Given the description of an element on the screen output the (x, y) to click on. 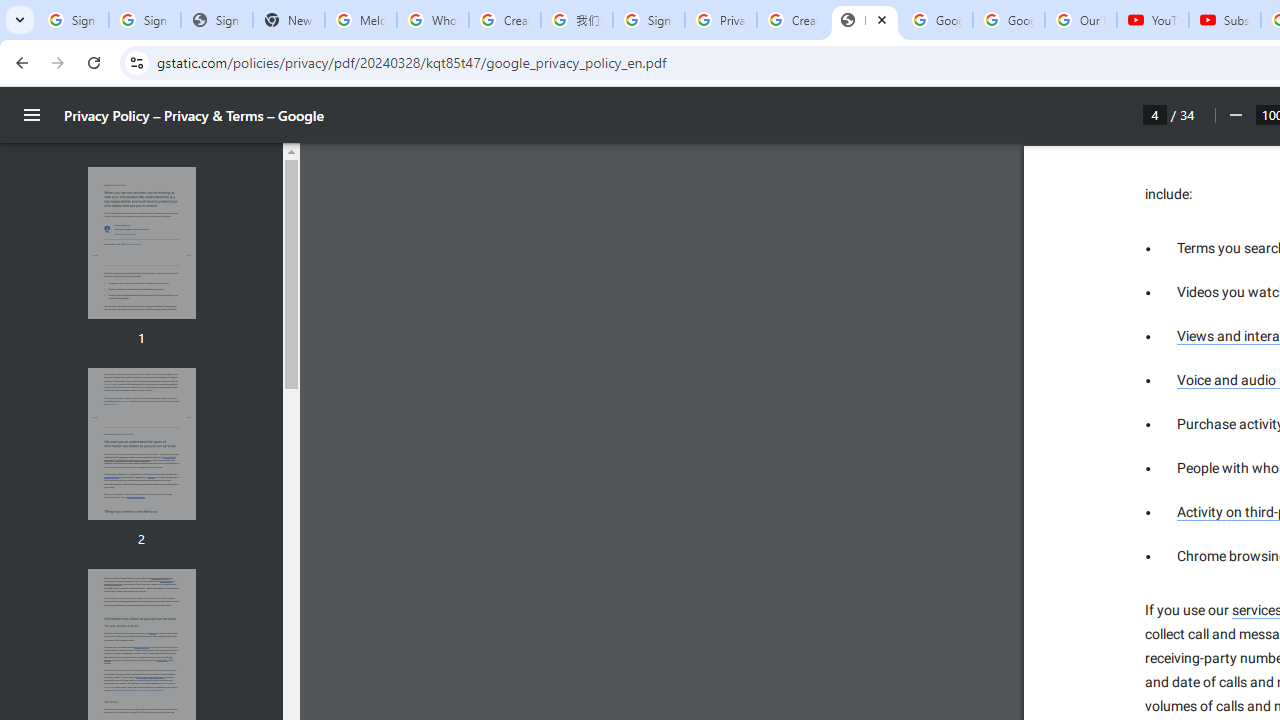
Back (19, 62)
Sign in - Google Accounts (72, 20)
YouTube (1153, 20)
Thumbnail for page 1 (141, 243)
Create your Google Account (504, 20)
Sign In - USA TODAY (216, 20)
Reload (93, 62)
View site information (136, 62)
Google Account (1008, 20)
AutomationID: thumbnail (141, 443)
Sign in - Google Accounts (648, 20)
Sign in - Google Accounts (144, 20)
Zoom out (1234, 115)
